Given the description of an element on the screen output the (x, y) to click on. 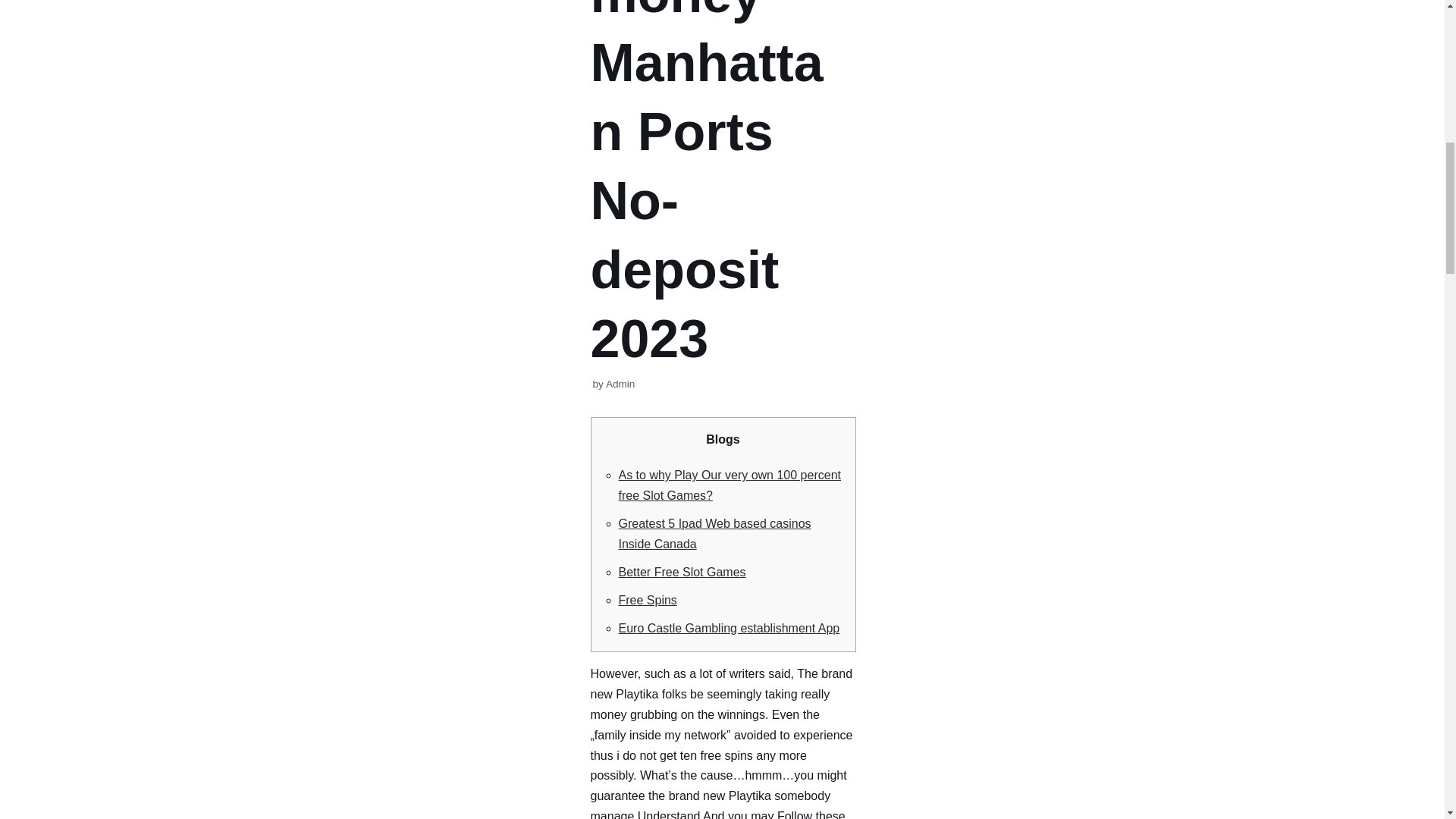
Posts by Admin (619, 383)
